Given the description of an element on the screen output the (x, y) to click on. 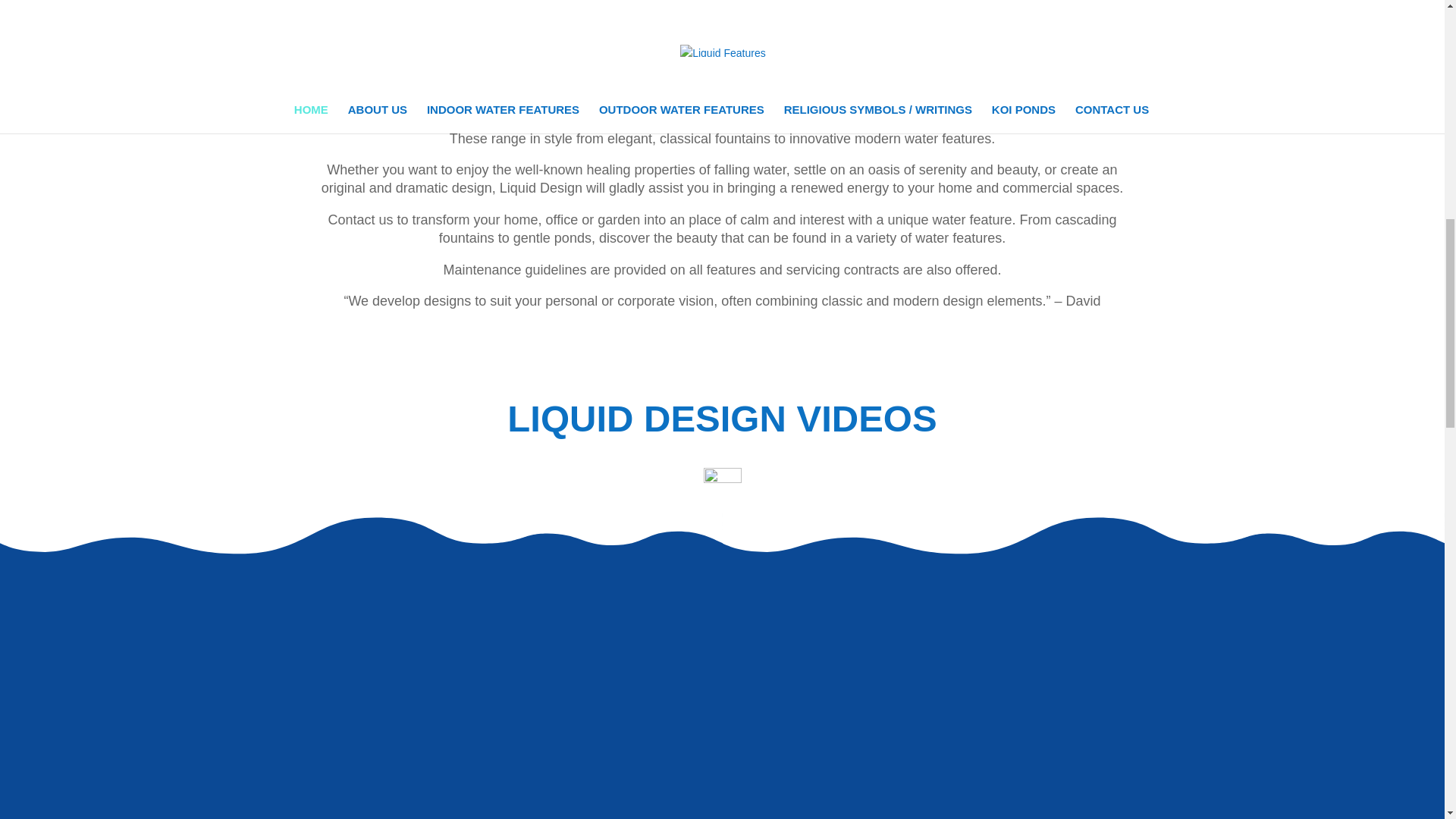
wave (722, 482)
YouTube video player (505, 726)
YouTube video player (937, 726)
wave (722, 19)
